Given the description of an element on the screen output the (x, y) to click on. 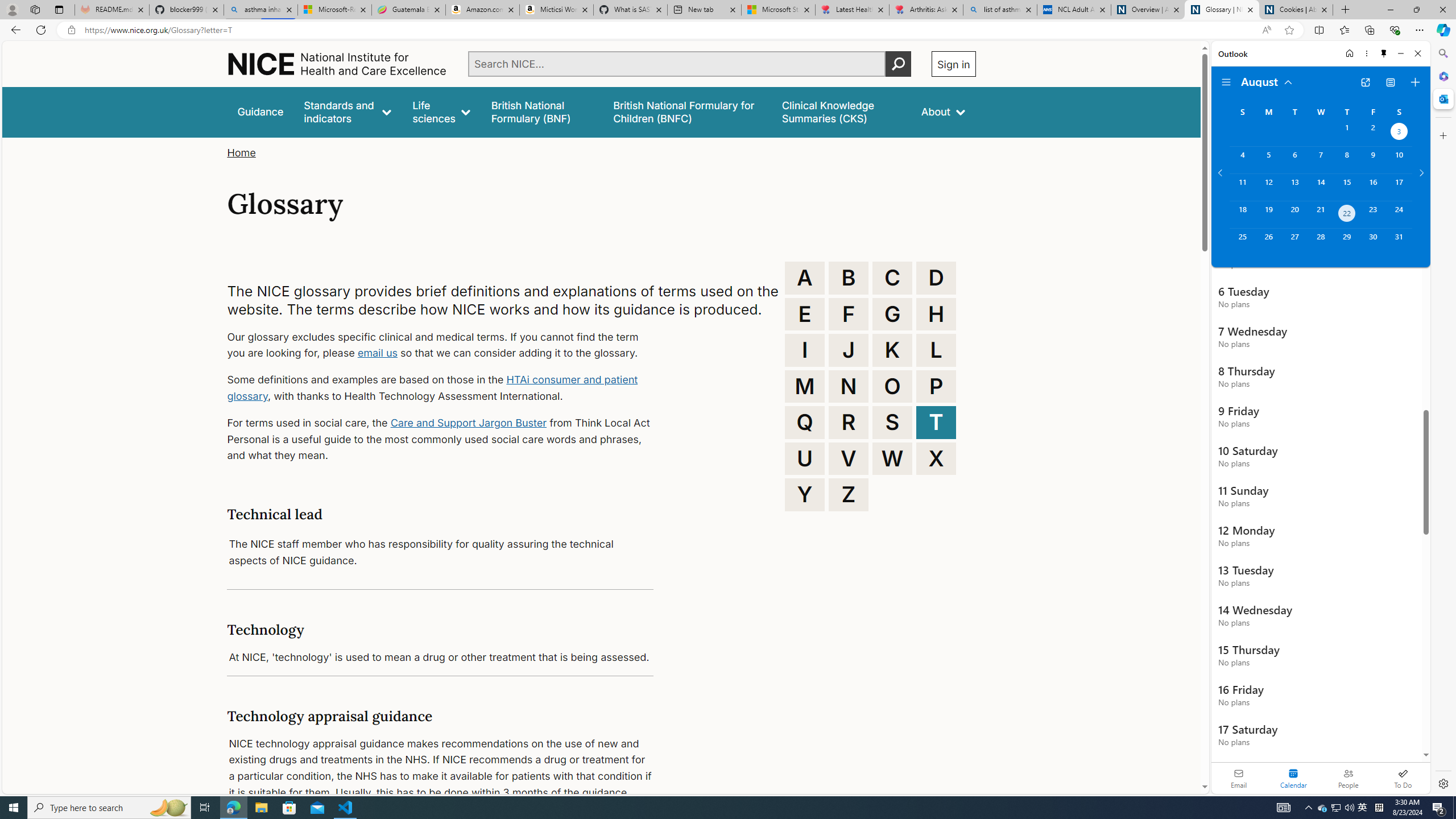
D (935, 277)
Saturday, August 10, 2024.  (1399, 159)
G (892, 313)
People (1347, 777)
asthma inhaler - Search (260, 9)
Friday, August 23, 2024.  (1372, 214)
Sunday, August 11, 2024.  (1242, 186)
U (804, 458)
M (804, 385)
Create event (1414, 82)
